Given the description of an element on the screen output the (x, y) to click on. 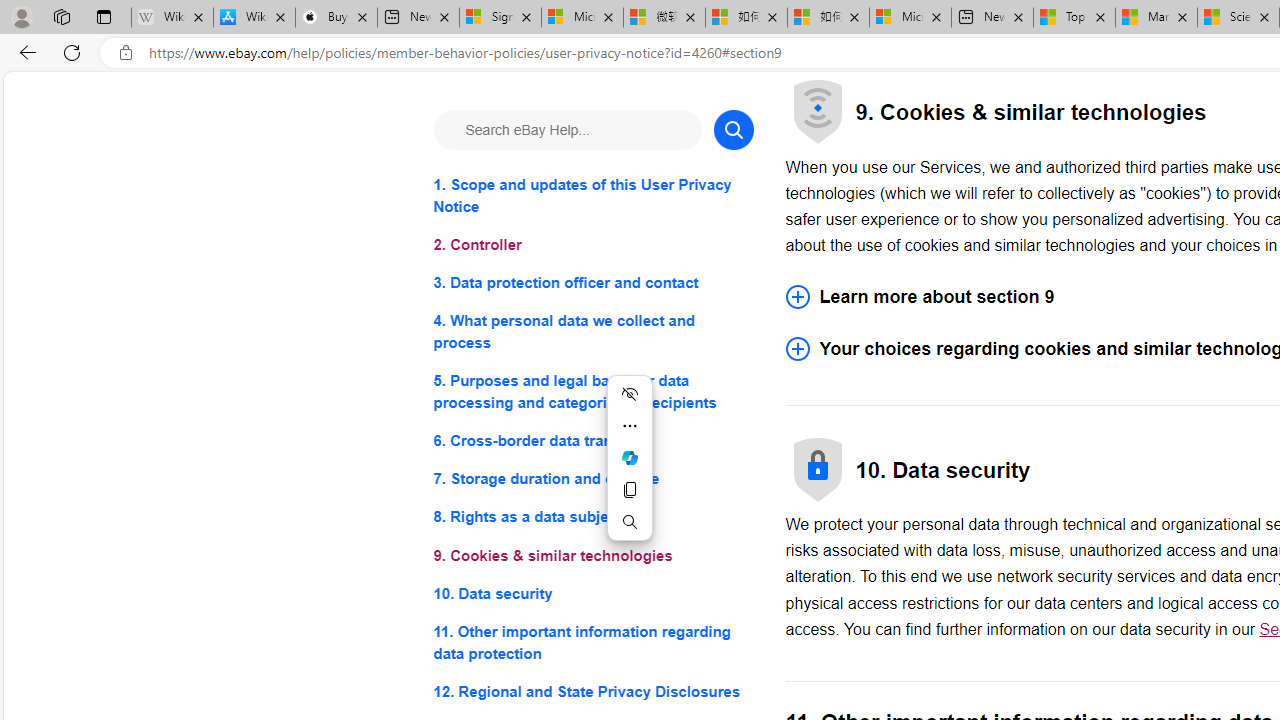
Buy iPad - Apple (336, 17)
11. Other important information regarding data protection (592, 642)
2. Controller (592, 245)
Hide menu (629, 393)
4. What personal data we collect and process (592, 332)
1. Scope and updates of this User Privacy Notice (592, 196)
10. Data security (592, 592)
Microsoft account | Account Checkup (910, 17)
12. Regional and State Privacy Disclosures (592, 690)
3. Data protection officer and contact (592, 283)
